Given the description of an element on the screen output the (x, y) to click on. 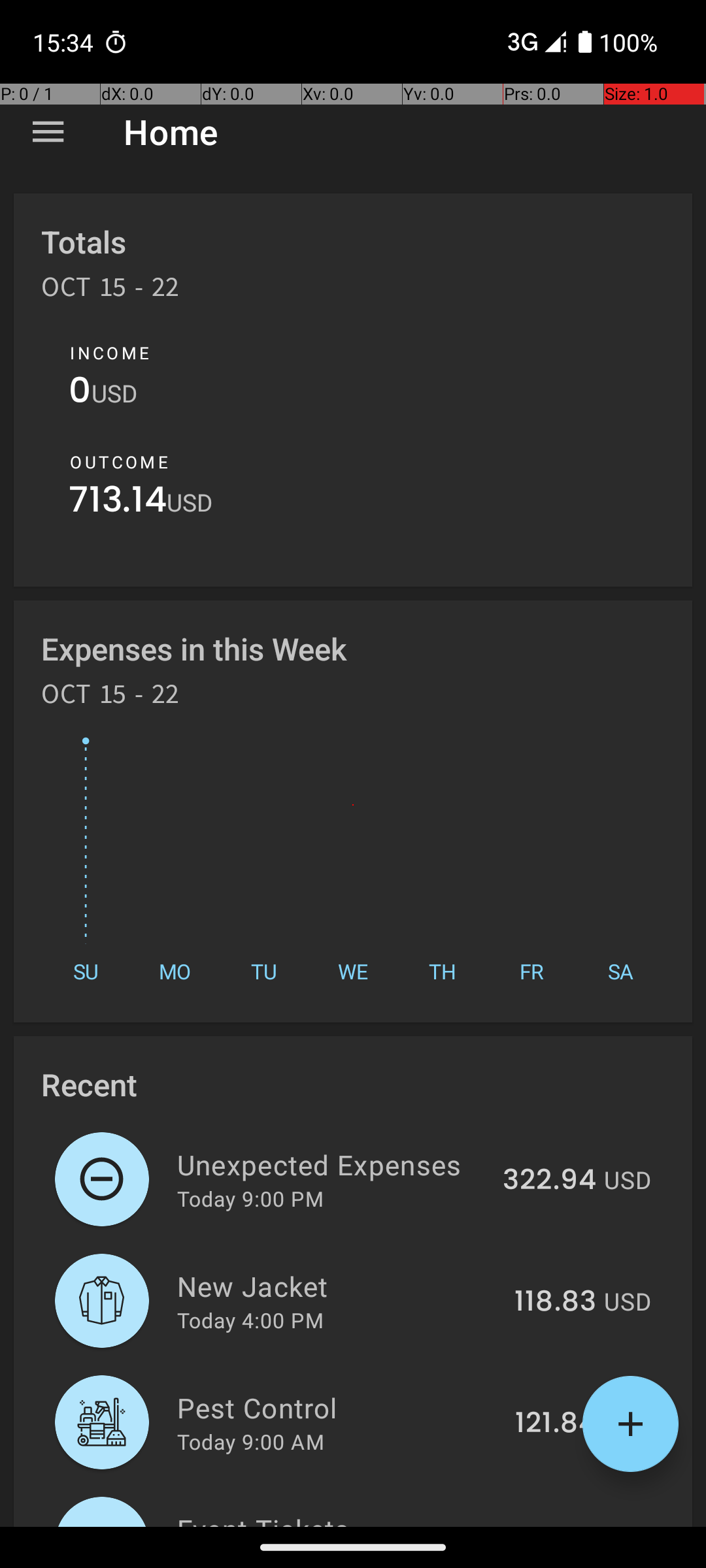
713.14 Element type: android.widget.TextView (117, 502)
Unexpected Expenses Element type: android.widget.TextView (332, 1164)
Today 9:00 PM Element type: android.widget.TextView (250, 1198)
322.94 Element type: android.widget.TextView (549, 1180)
New Jacket Element type: android.widget.TextView (338, 1285)
Today 4:00 PM Element type: android.widget.TextView (250, 1320)
118.83 Element type: android.widget.TextView (554, 1301)
Pest Control Element type: android.widget.TextView (338, 1407)
Today 9:00 AM Element type: android.widget.TextView (250, 1441)
121.84 Element type: android.widget.TextView (555, 1423)
Event Tickets Element type: android.widget.TextView (339, 1518)
78.98 Element type: android.widget.TextView (556, 1524)
